Given the description of an element on the screen output the (x, y) to click on. 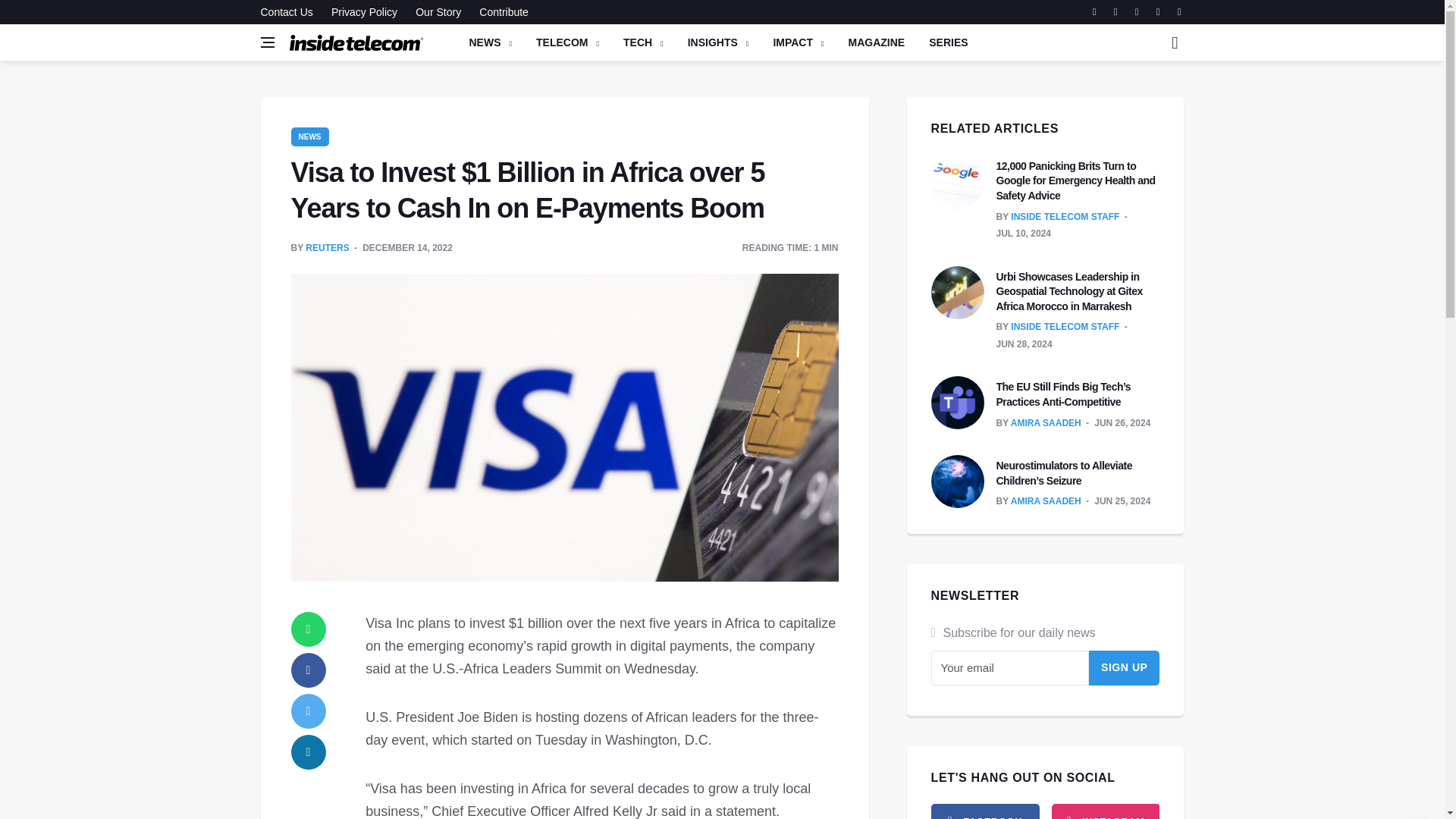
facebook (985, 811)
facebook (308, 669)
Contribute (499, 12)
Our Story (437, 12)
instagram (1104, 811)
linkedin (308, 751)
Contact Us (290, 12)
Sign Up (1124, 667)
Privacy Policy (363, 12)
